Given the description of an element on the screen output the (x, y) to click on. 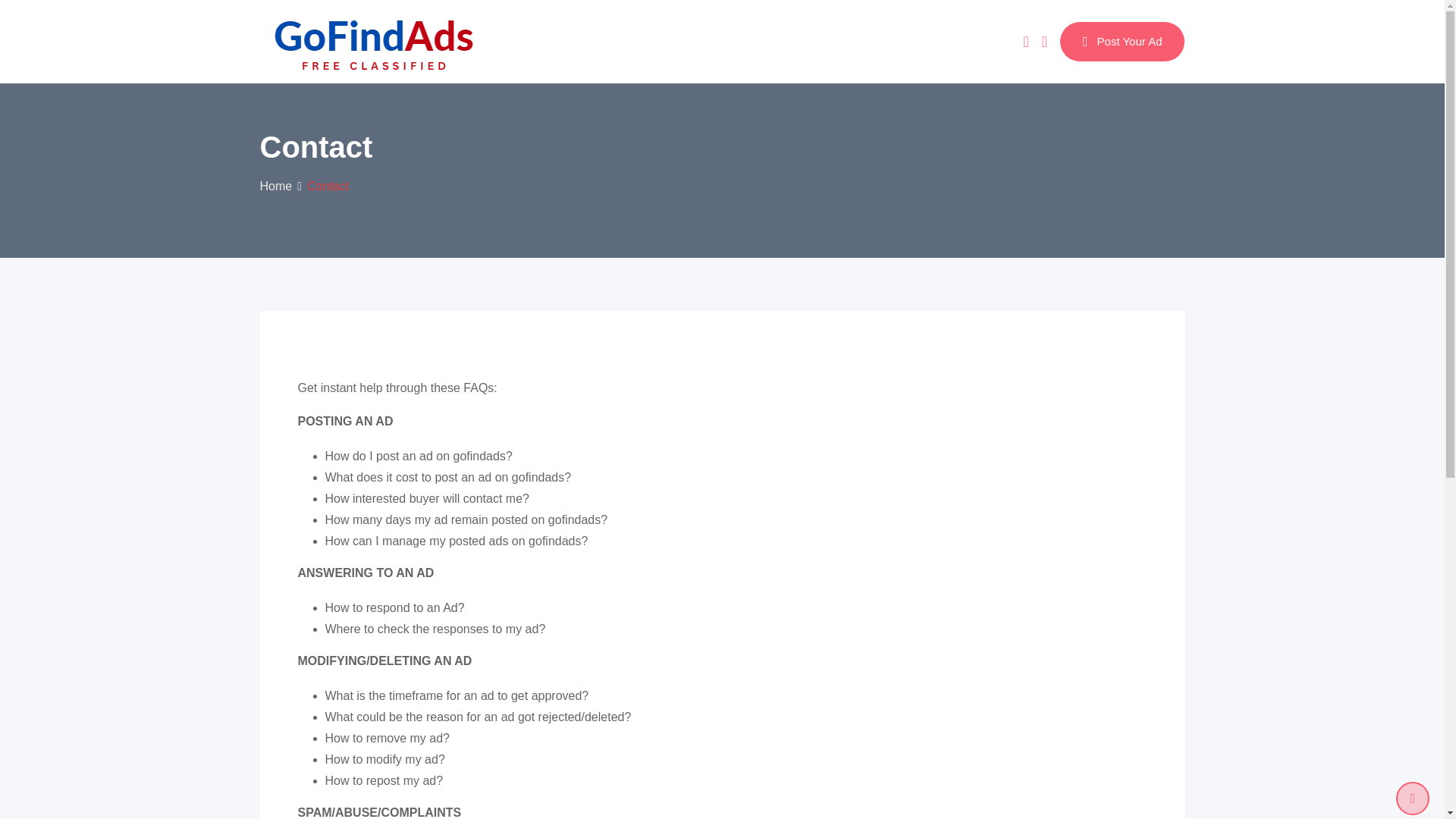
Home (275, 185)
Post Your Ad (1122, 41)
Chat (1025, 41)
